Given the description of an element on the screen output the (x, y) to click on. 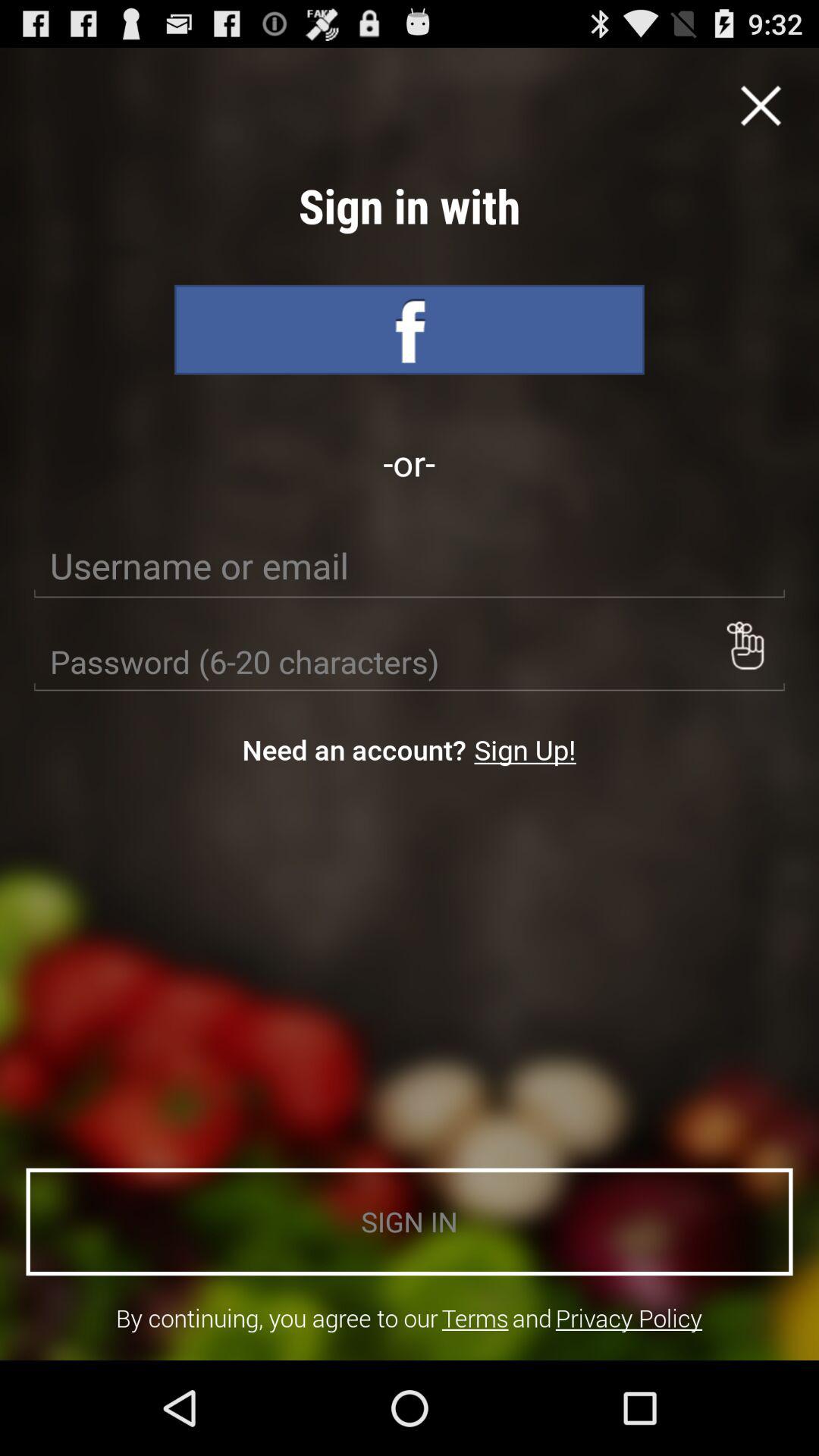
jump to the sign up! item (525, 749)
